Given the description of an element on the screen output the (x, y) to click on. 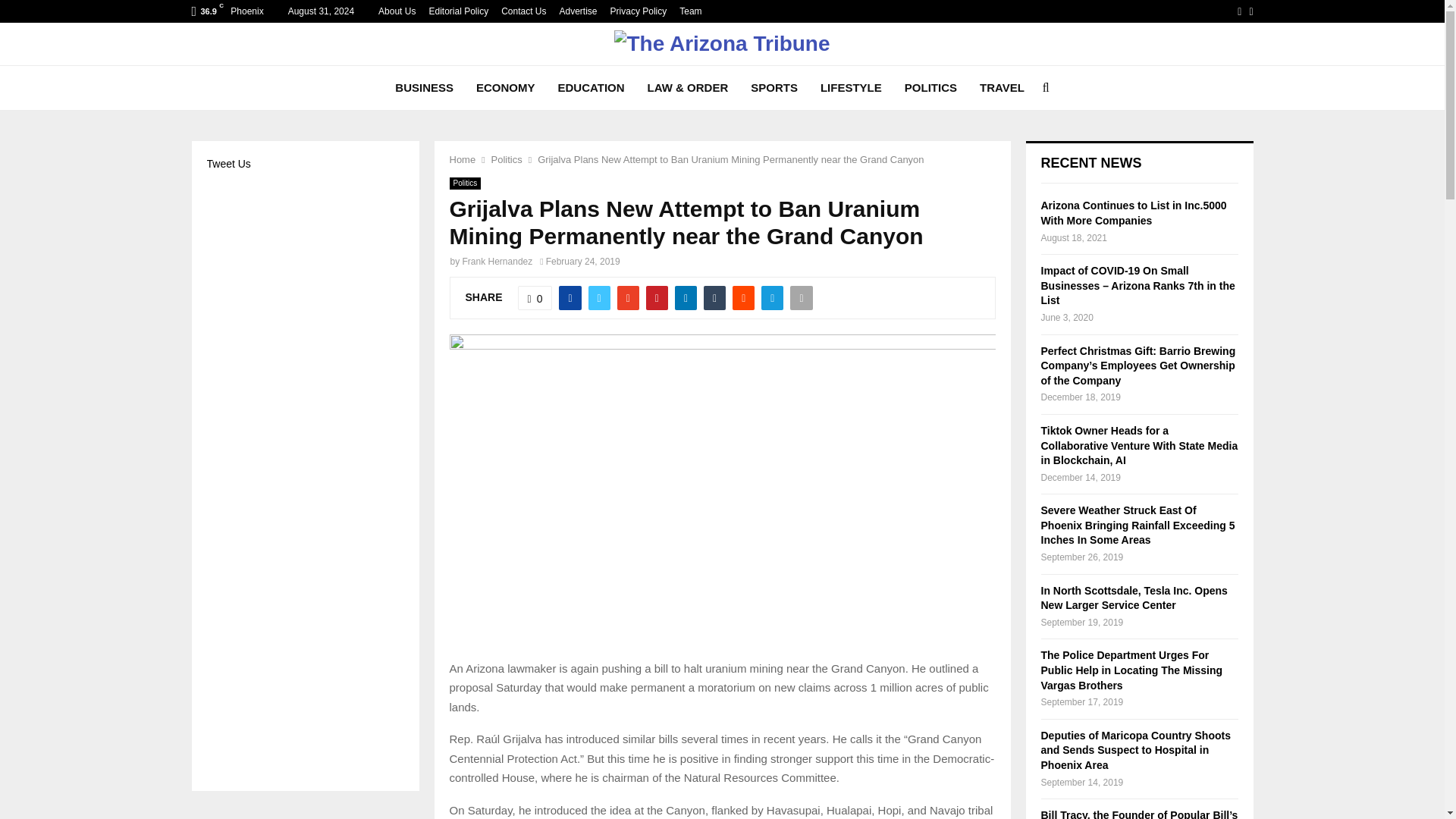
Home (462, 159)
About Us (396, 11)
Advertise (577, 11)
ECONOMY (505, 87)
Privacy Policy (638, 11)
Contact Us (523, 11)
Editorial Policy (457, 11)
EDUCATION (590, 87)
Politics (507, 159)
SPORTS (774, 87)
